Given the description of an element on the screen output the (x, y) to click on. 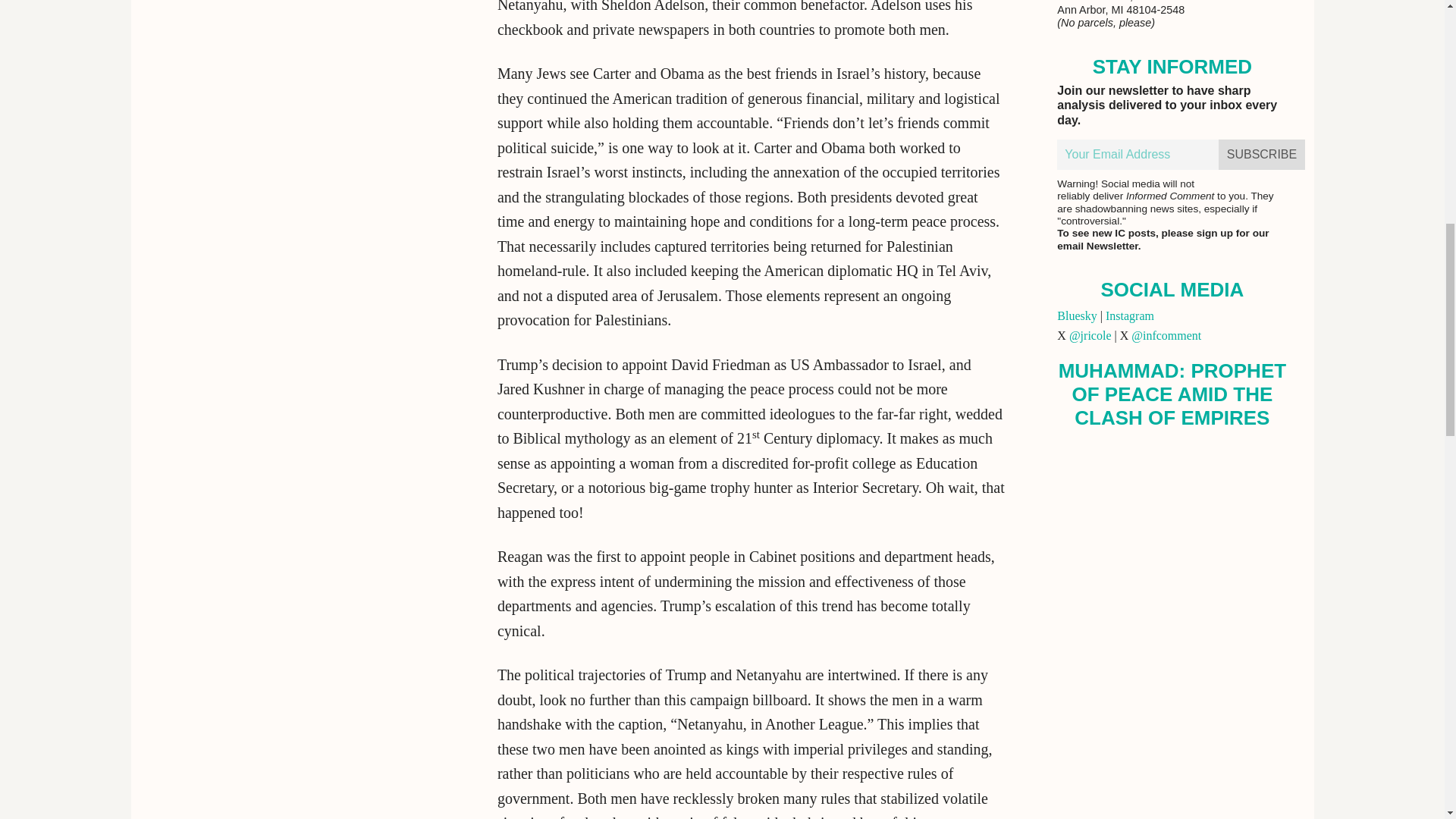
subscribe (1262, 154)
subscribe (1262, 154)
Bluesky (1076, 315)
Instagram (1129, 315)
